Given the description of an element on the screen output the (x, y) to click on. 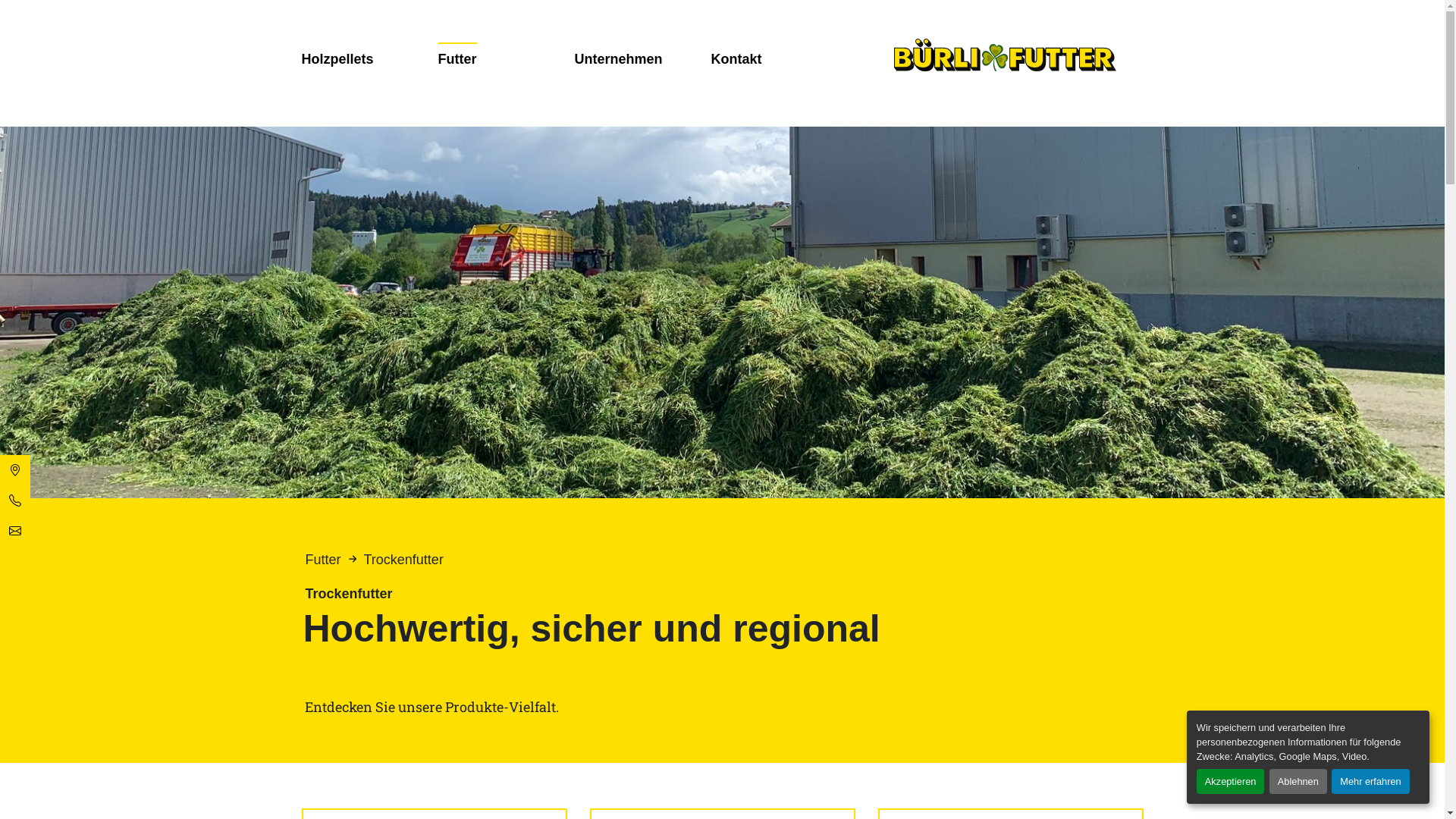
Unternehmen Element type: text (618, 58)
Mehr erfahren Element type: text (1369, 780)
041 970 18 64 Element type: text (15, 500)
Ziegelmatte 3
6248 Alberswil Element type: text (15, 470)
Futter Element type: text (322, 559)
info@buerli-pellets.ch Element type: text (15, 530)
Trockenfutter Element type: text (403, 559)
Kontakt Element type: text (736, 58)
Akzeptieren Element type: text (1230, 780)
Futter Element type: text (457, 58)
Holzpellets Element type: text (337, 58)
Ablehnen Element type: text (1298, 780)
